Given the description of an element on the screen output the (x, y) to click on. 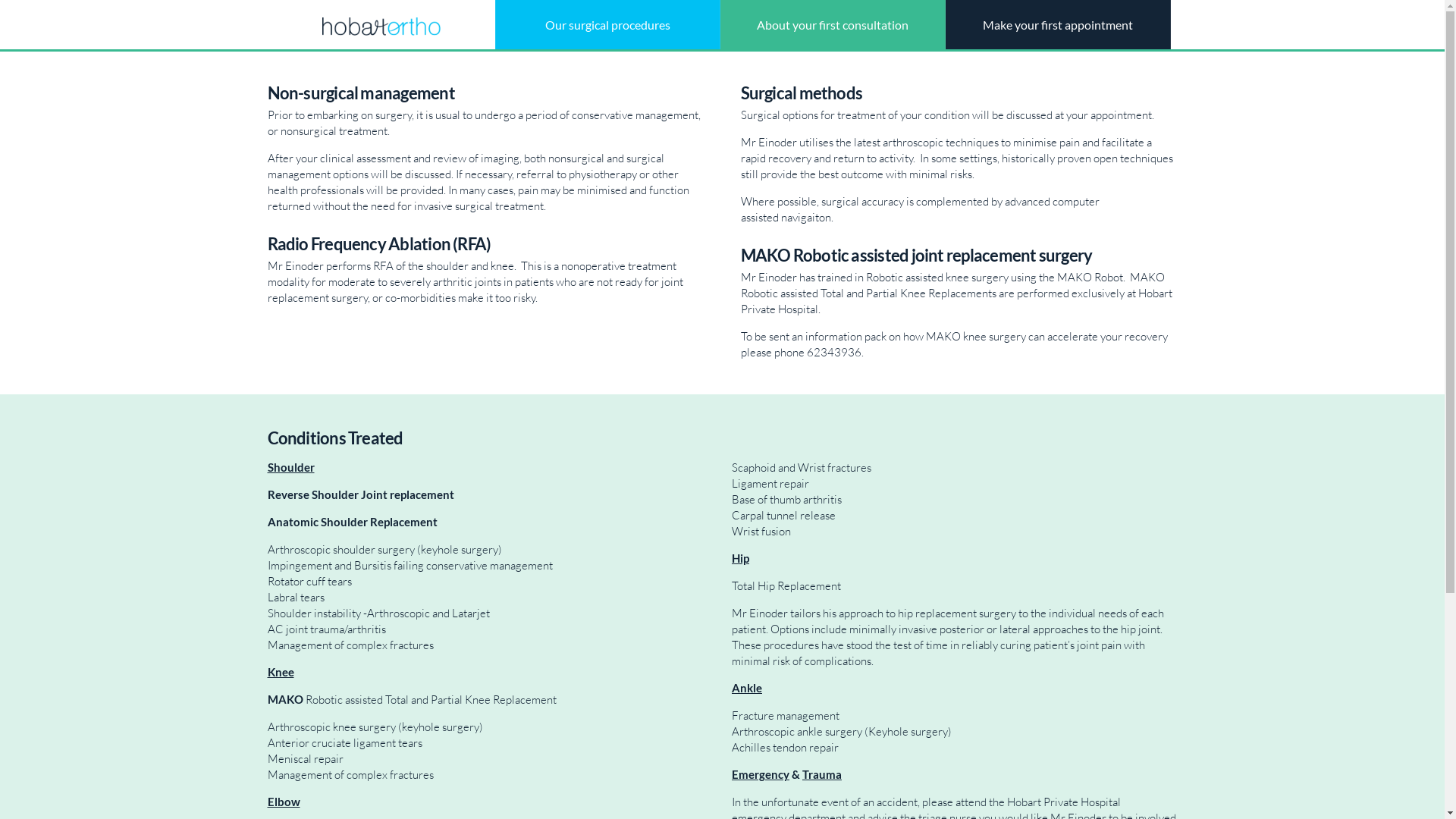
Our surgical procedures Element type: text (606, 24)
About your first consultation Element type: text (832, 24)
Make your first appointment Element type: text (1057, 24)
